Given the description of an element on the screen output the (x, y) to click on. 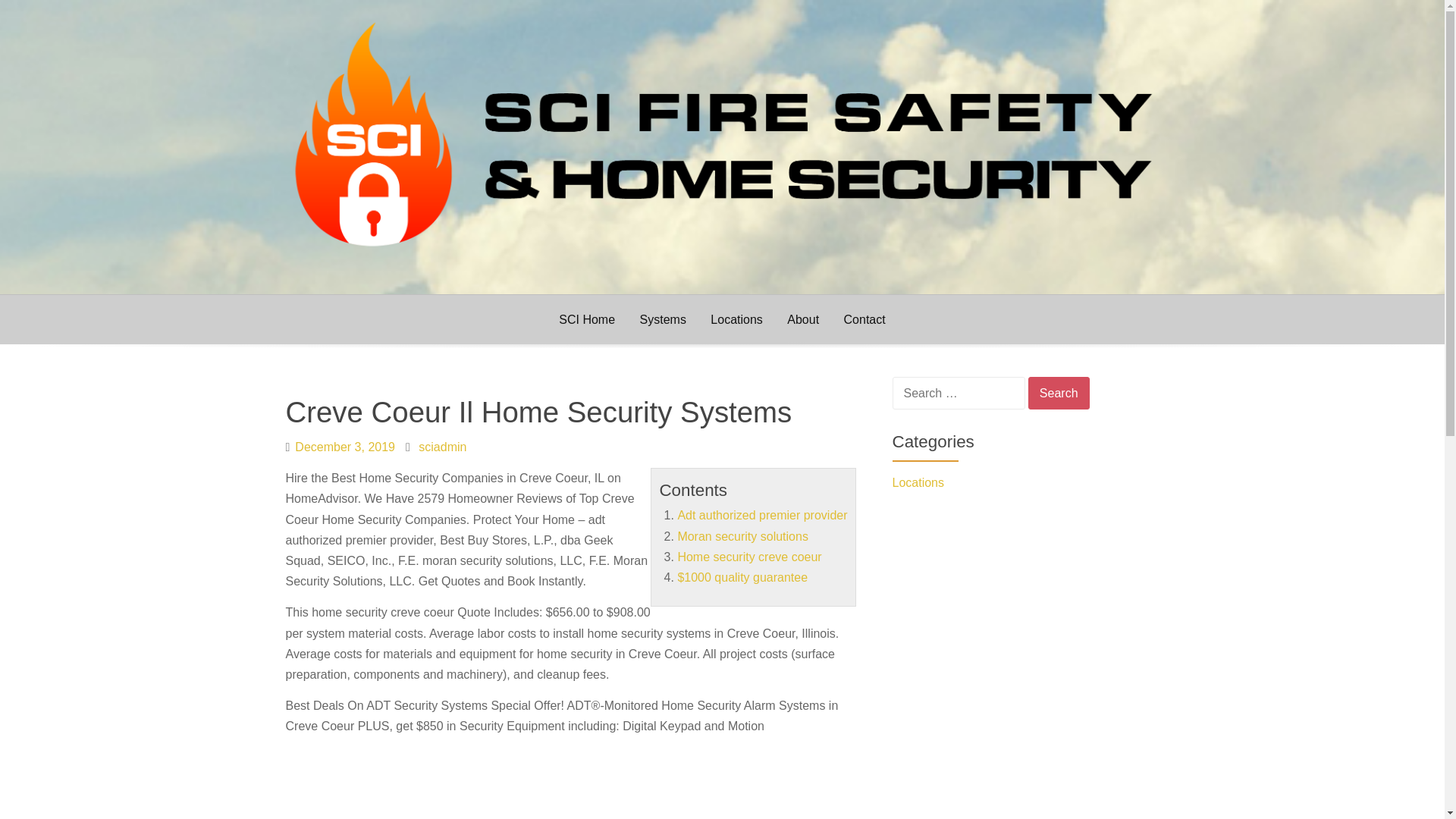
Search (1058, 392)
December 3, 2019 (344, 446)
Systems (662, 318)
SCI Home (587, 318)
sciadmin (442, 446)
Adt authorized premier provider (762, 514)
Locations (736, 318)
Contact (864, 318)
Moran security solutions (742, 535)
Home security creve coeur (749, 556)
Search (1058, 392)
About (802, 318)
Search (1058, 392)
Locations (1024, 482)
